Given the description of an element on the screen output the (x, y) to click on. 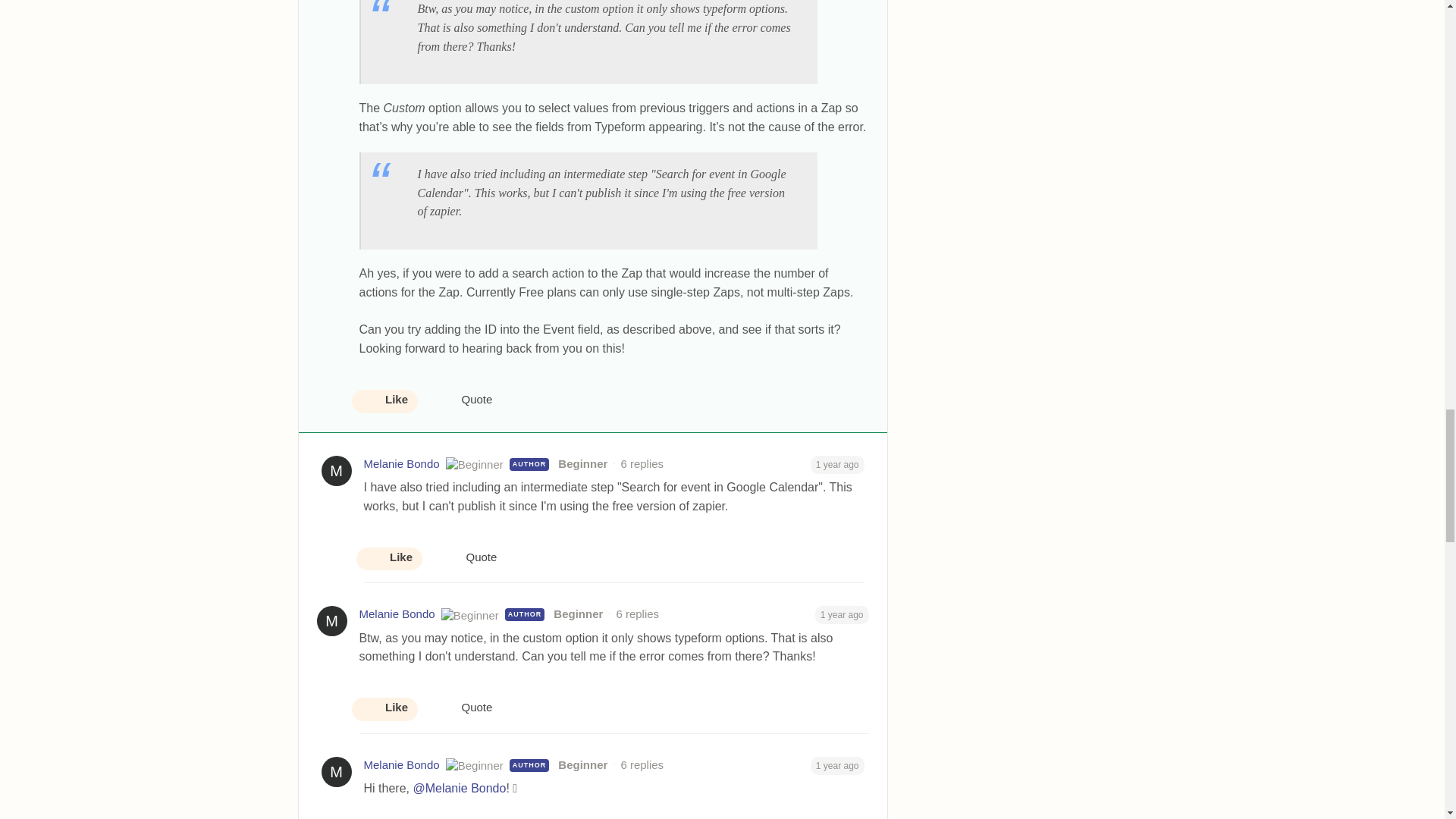
Melanie Bondo (397, 614)
Melanie Bondo (401, 764)
Melanie Bondo (401, 463)
